Given the description of an element on the screen output the (x, y) to click on. 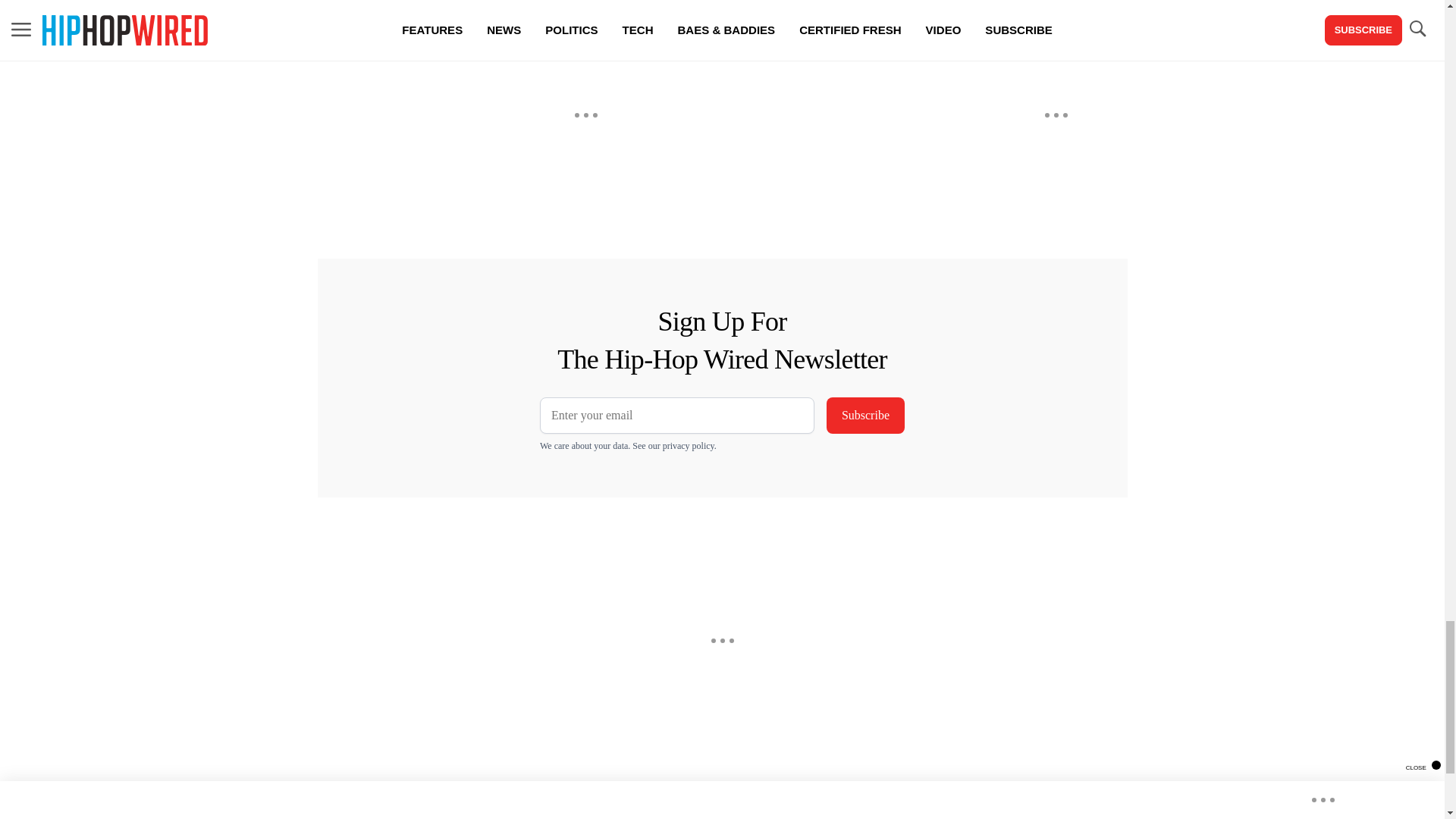
privacy policy (688, 445)
Subscribe (865, 415)
